Given the description of an element on the screen output the (x, y) to click on. 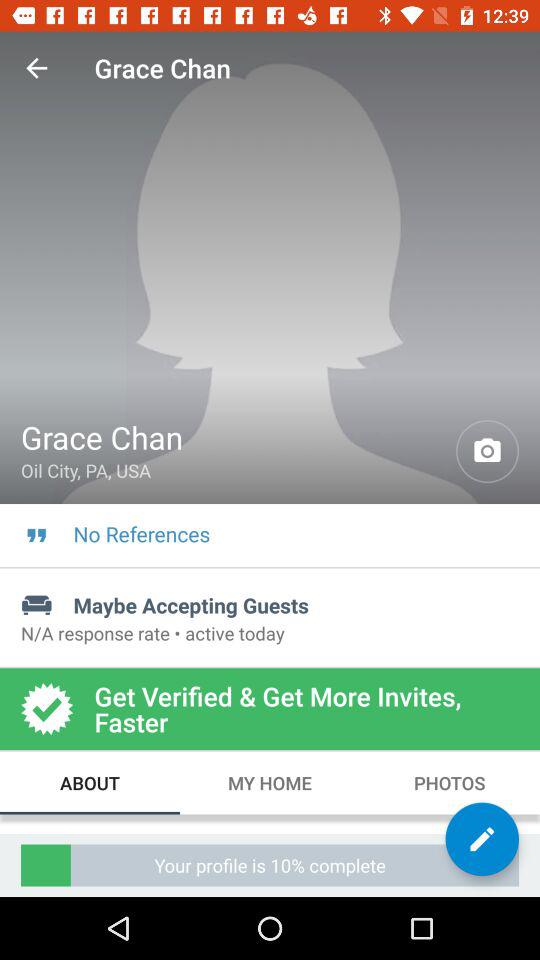
edit the profile (482, 839)
